Given the description of an element on the screen output the (x, y) to click on. 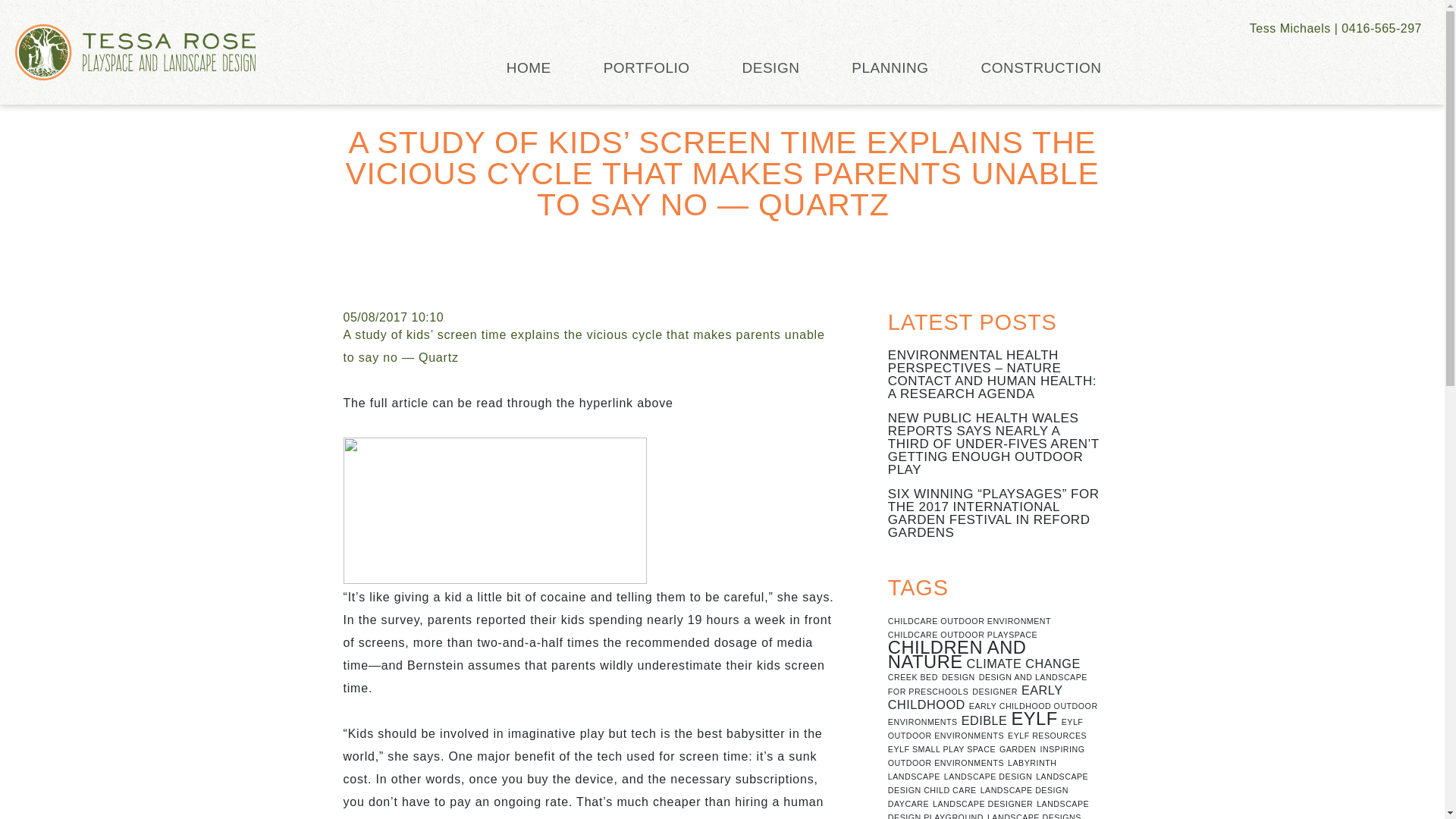
LABYRINTH (1032, 762)
CREEK BED (912, 676)
EYLF RESOURCES (1046, 735)
EYLF (1033, 718)
EARLY CHILDHOOD OUTDOOR ENVIRONMENTS (992, 713)
EYLF SMALL PLAY SPACE (941, 748)
PLANNING (889, 67)
EYLF OUTDOOR ENVIRONMENTS (985, 728)
CLIMATE CHANGE (1023, 663)
PORTFOLIO (647, 67)
